Given the description of an element on the screen output the (x, y) to click on. 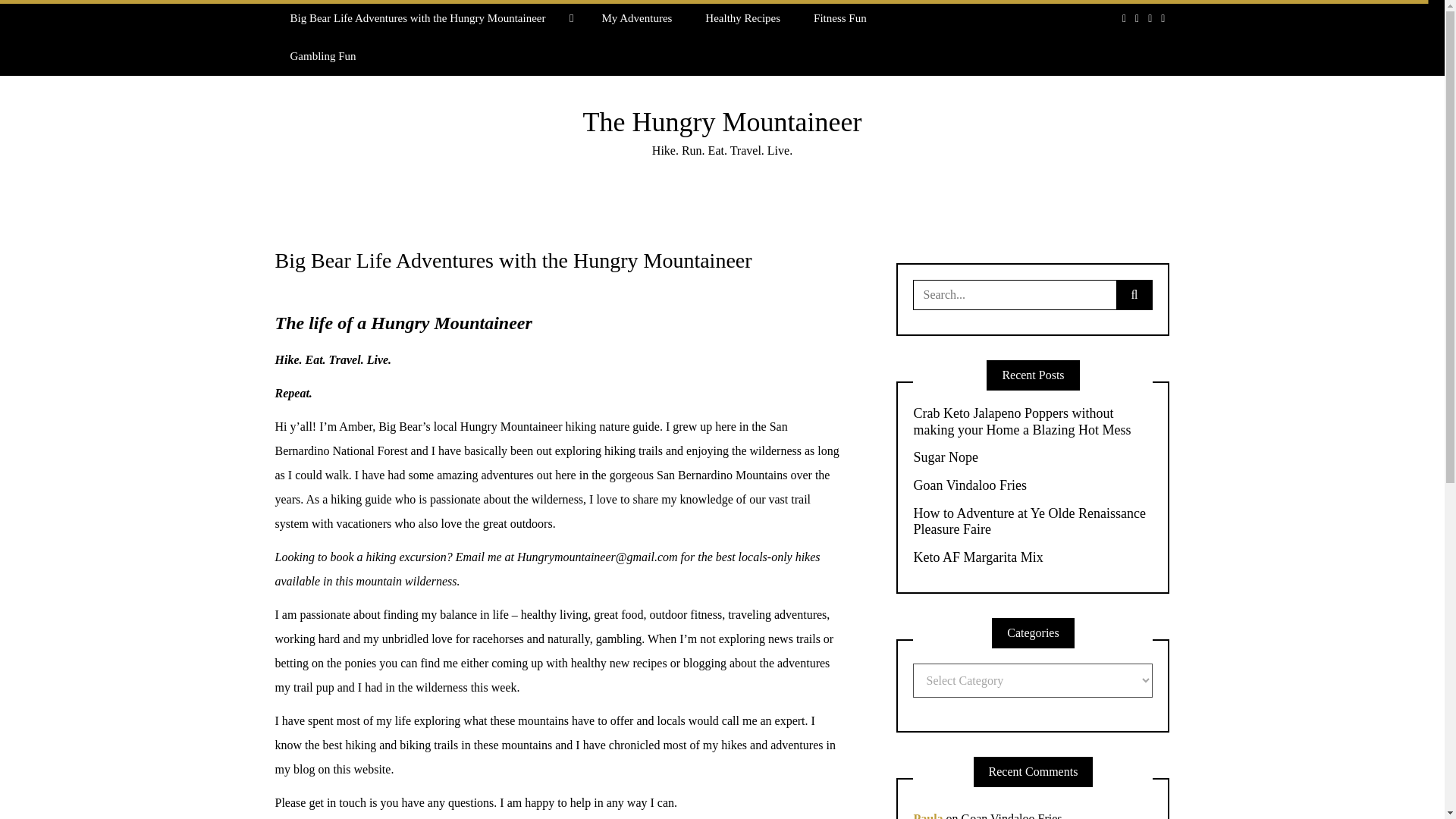
Big Bear Life Adventures with the Hungry Mountaineer (429, 18)
